Given the description of an element on the screen output the (x, y) to click on. 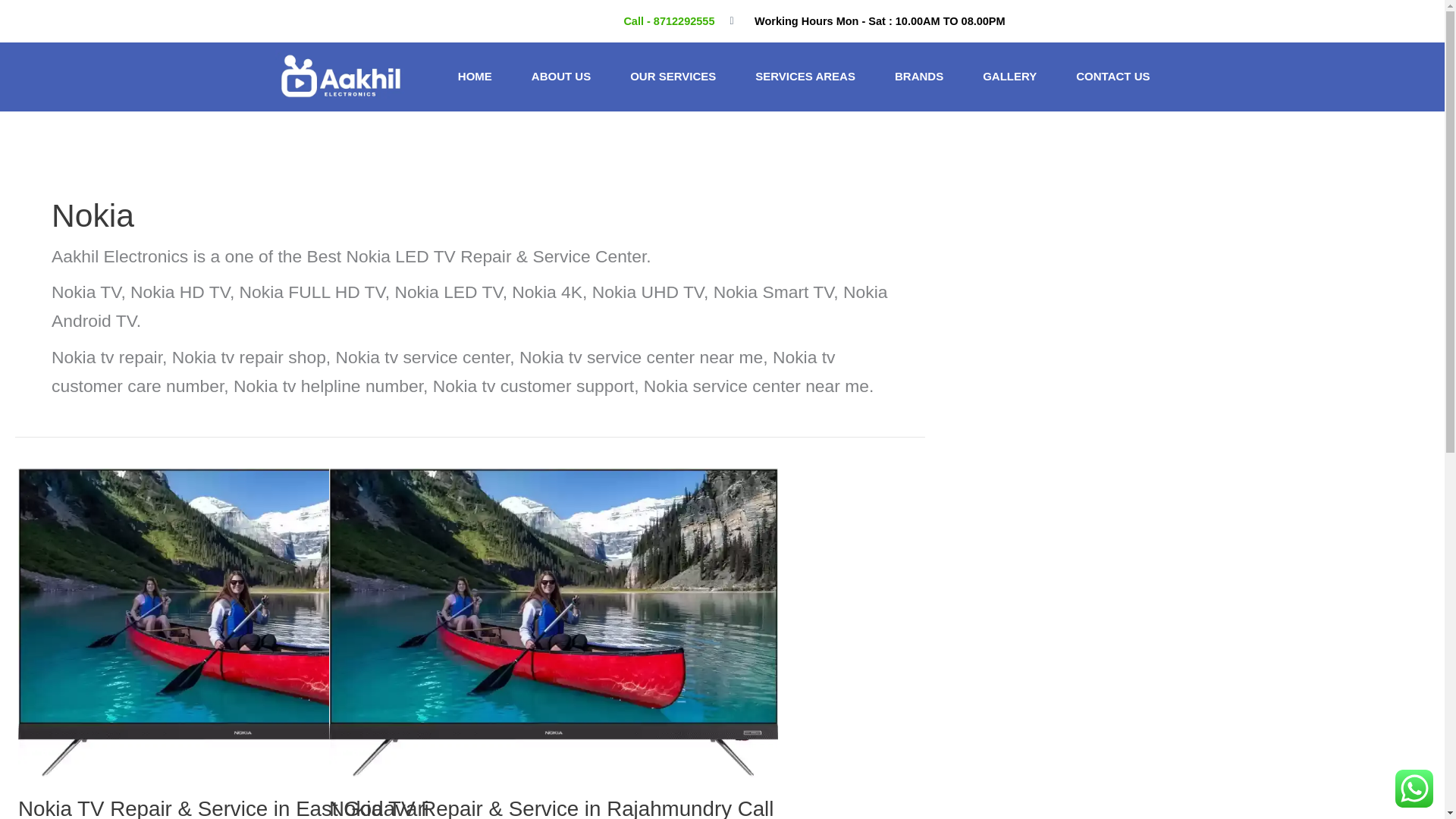
Call - 8712292555 (662, 21)
BRANDS (918, 76)
SERVICES AREAS (805, 76)
GALLERY (1009, 76)
ABOUT US (561, 76)
CONTACT US (1113, 76)
OUR SERVICES (672, 76)
HOME (475, 76)
